Given the description of an element on the screen output the (x, y) to click on. 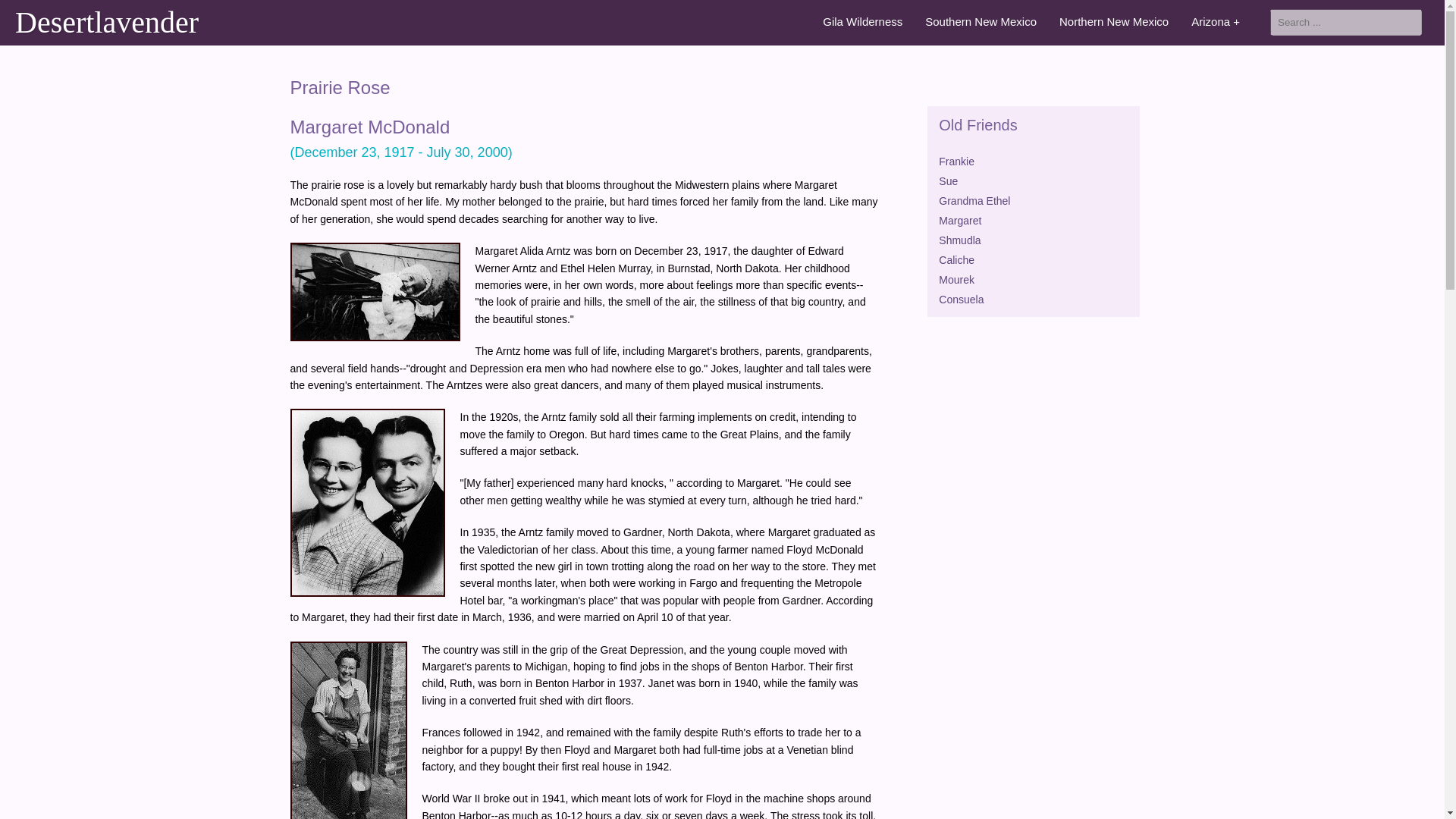
Mourek (956, 279)
Frankie (956, 161)
Desertlavender (110, 22)
Arizona (1219, 21)
Sue (948, 181)
Consuela (961, 299)
Southern New Mexico (983, 21)
Northern New Mexico (1117, 21)
Grandma Ethel (974, 200)
Caliche (956, 259)
Shmudla (959, 240)
Margaret (960, 220)
Gila Wilderness (866, 21)
